Given the description of an element on the screen output the (x, y) to click on. 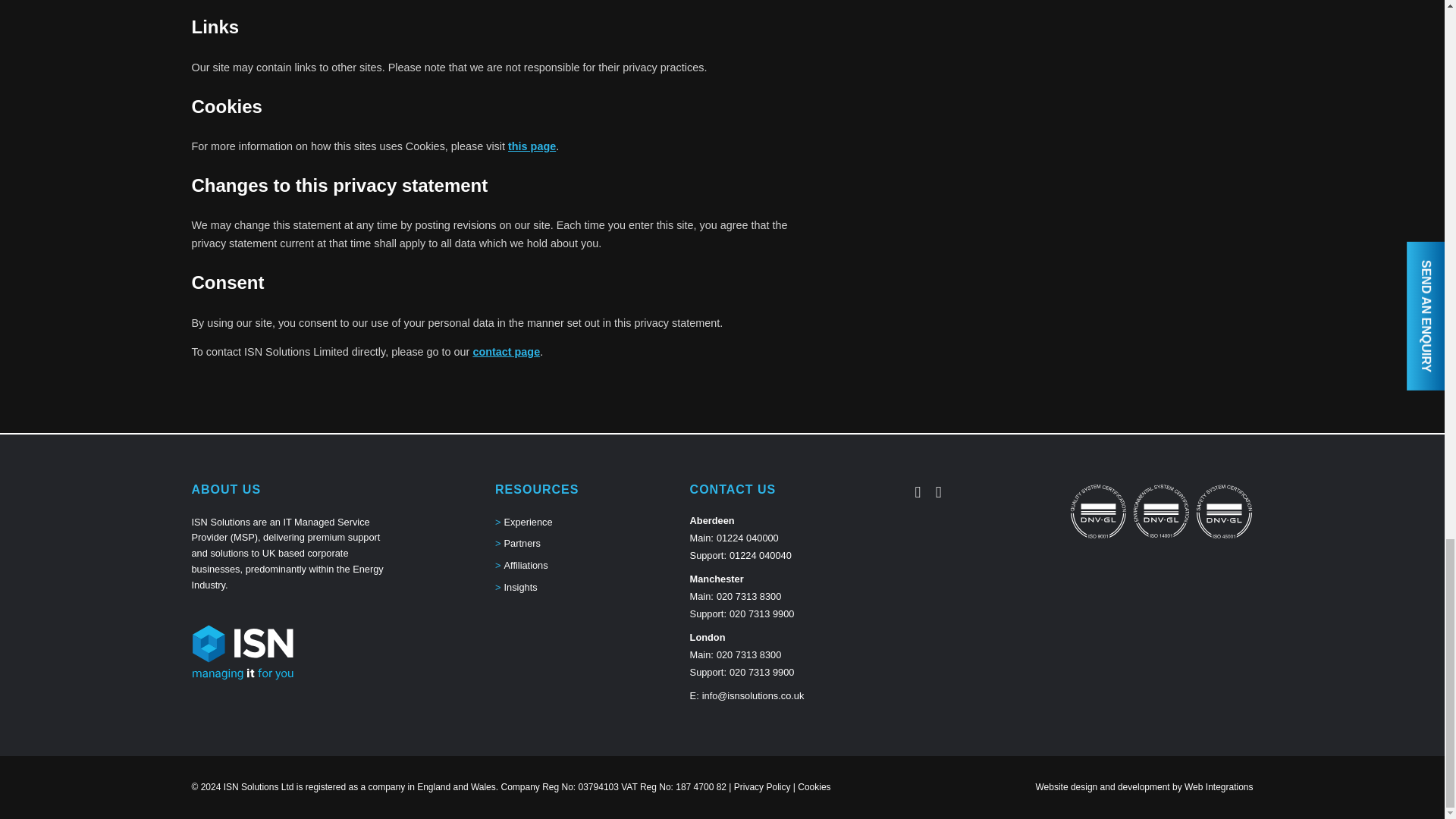
01224 040000 (747, 537)
01224 040040 (760, 555)
020 7313 8300 (748, 654)
Partners (521, 544)
Insights (520, 587)
contact page (505, 351)
this page (532, 146)
Experience (528, 522)
Affiliations (525, 565)
020 7313 9900 (761, 613)
